Given the description of an element on the screen output the (x, y) to click on. 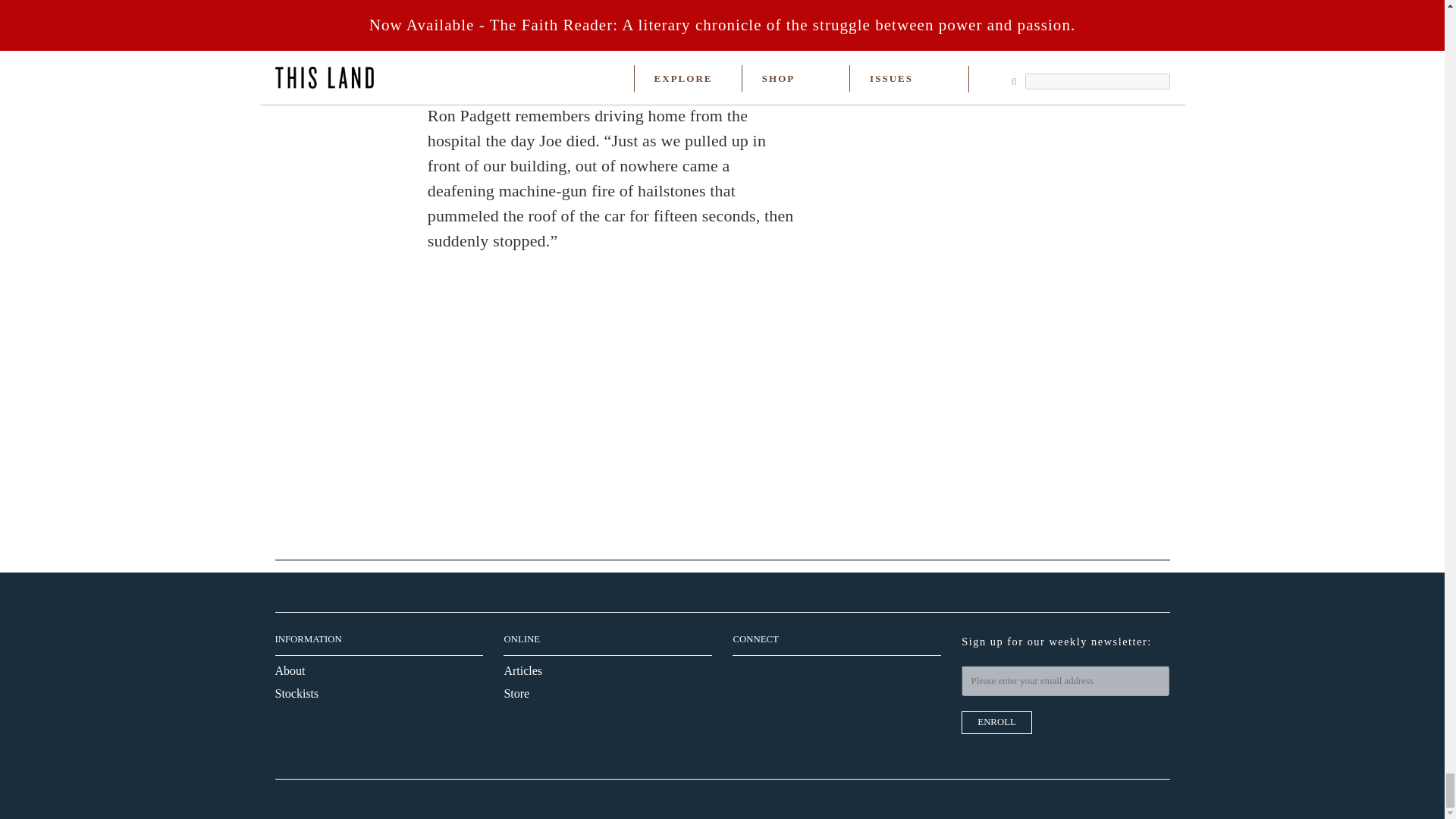
Enroll (995, 722)
Stockists (296, 693)
Articles (522, 670)
About (289, 670)
Enroll (995, 722)
Store (516, 693)
